Given the description of an element on the screen output the (x, y) to click on. 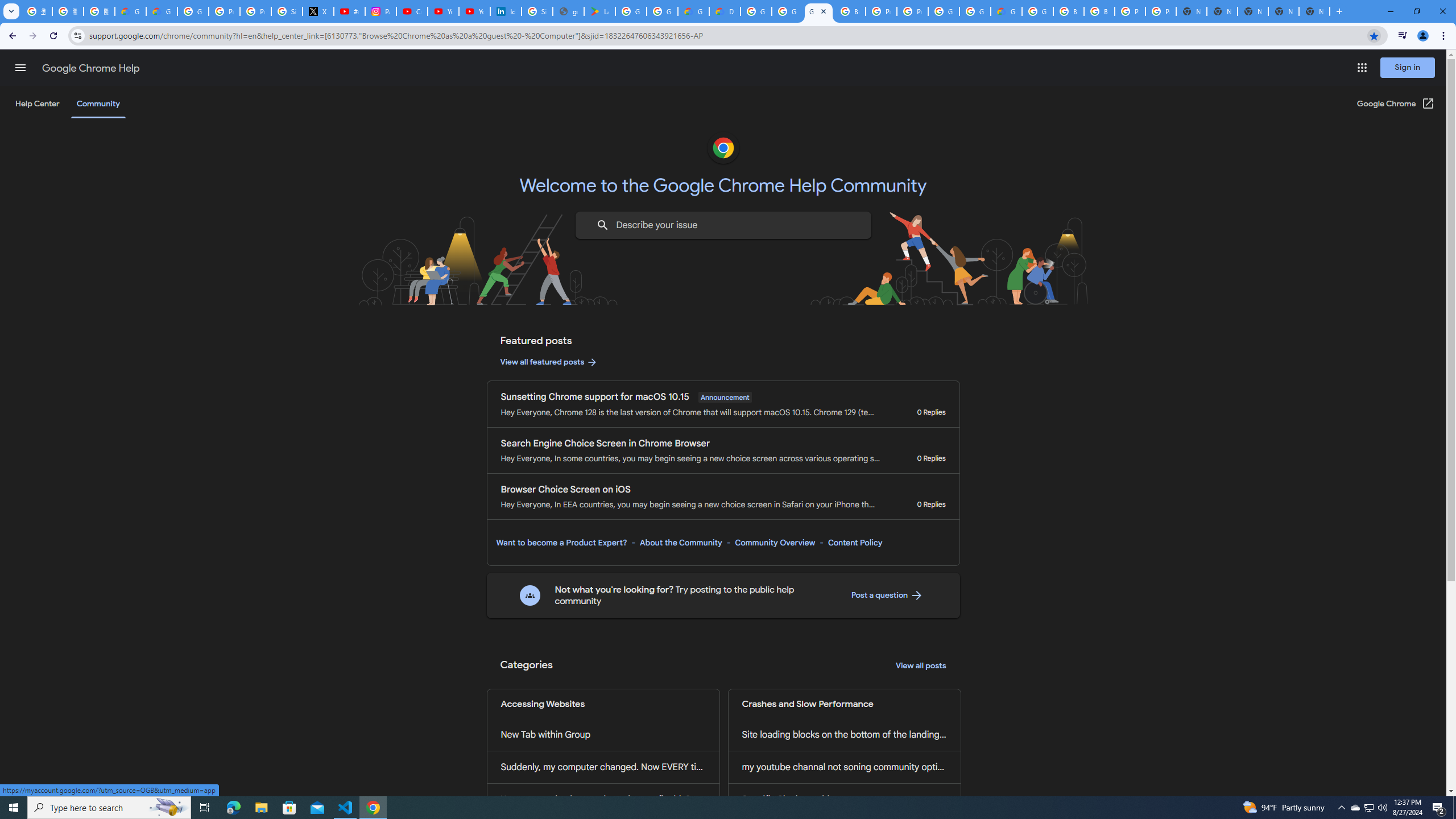
Privacy Help Center - Policies Help (223, 11)
Want to become a Product Expert? (561, 542)
Google Cloud Estimate Summary (1005, 11)
